Given the description of an element on the screen output the (x, y) to click on. 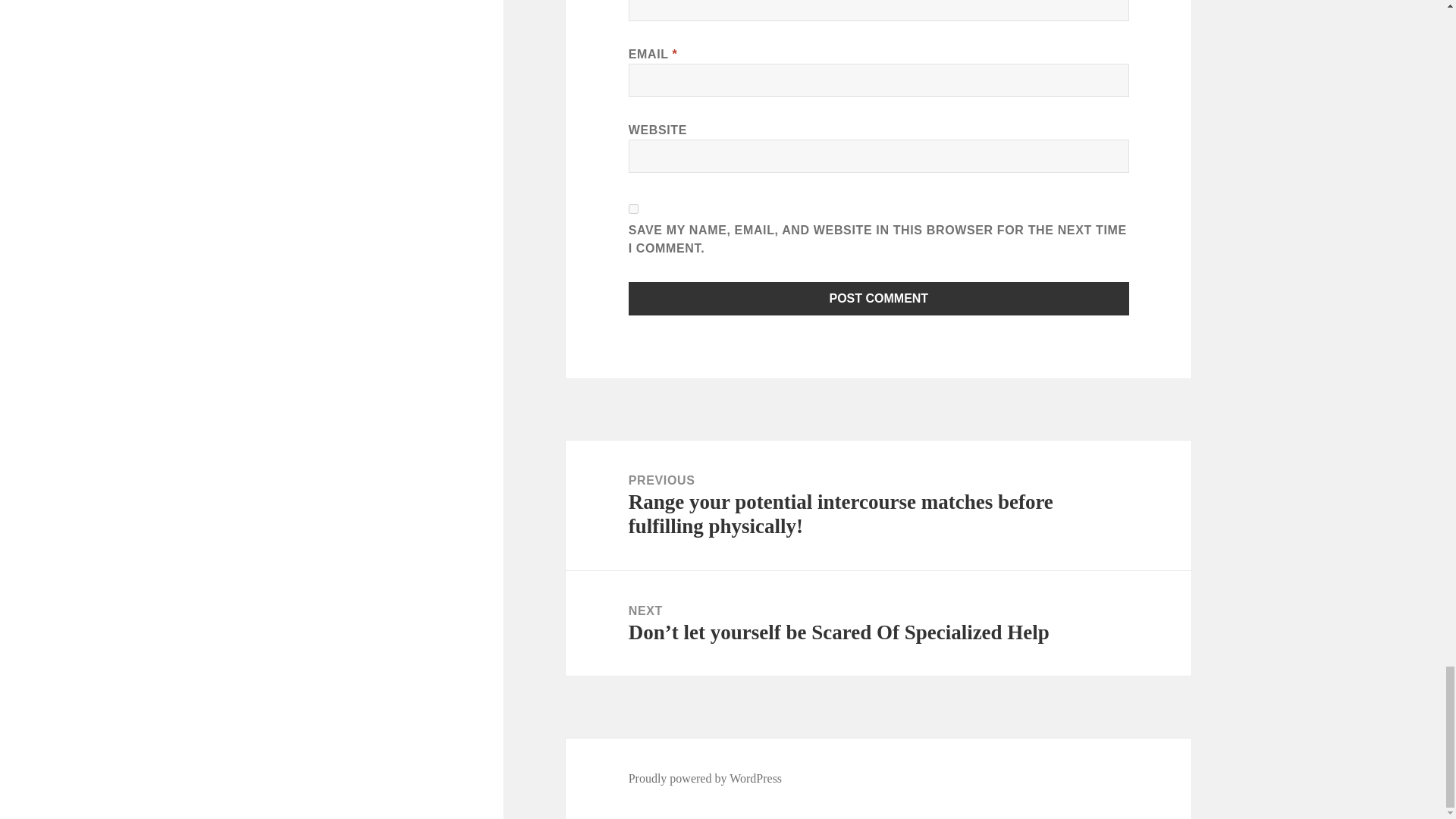
yes (633, 208)
Post Comment (878, 298)
